Given the description of an element on the screen output the (x, y) to click on. 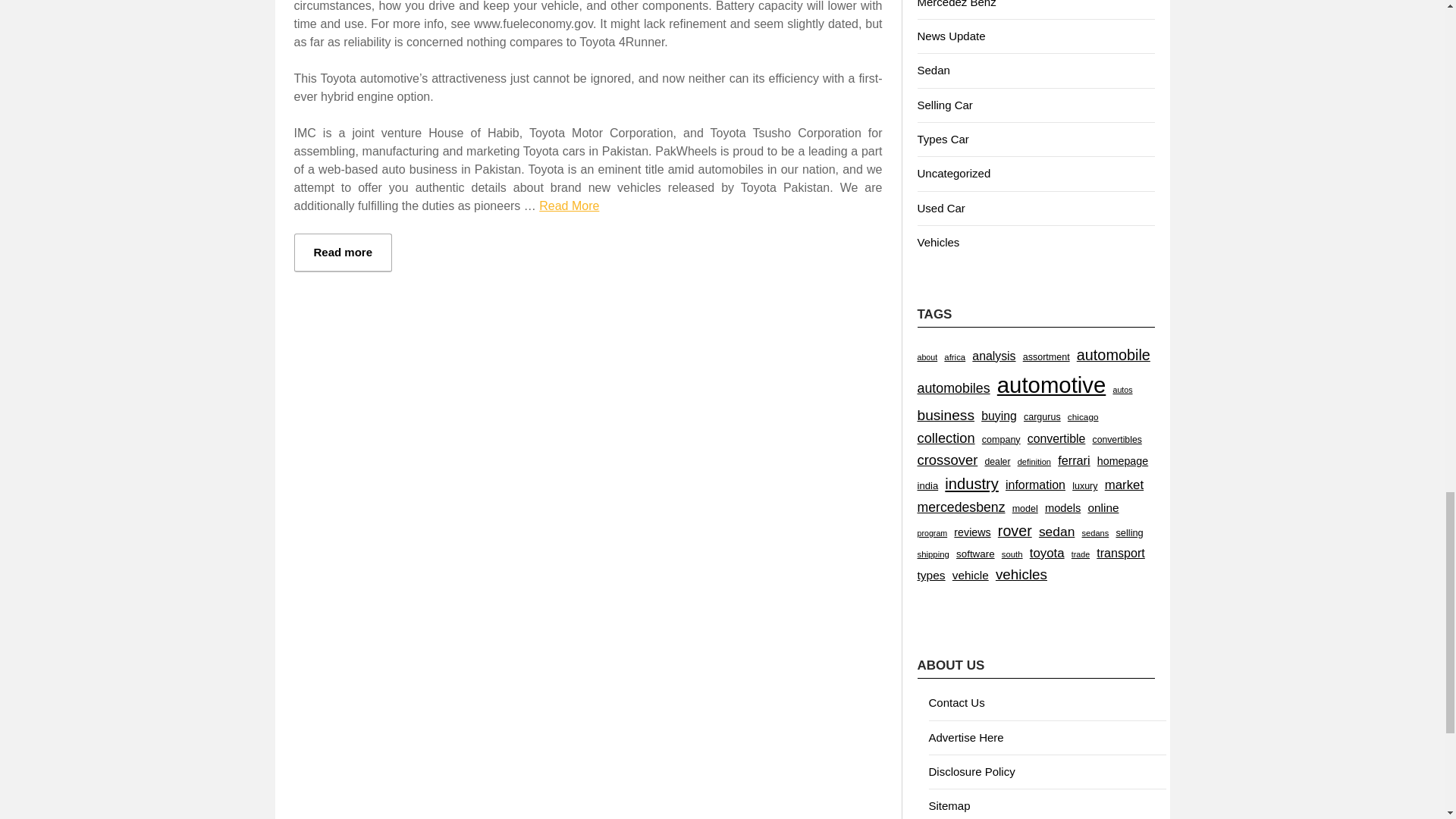
Read more (343, 252)
Read More (568, 205)
